Given the description of an element on the screen output the (x, y) to click on. 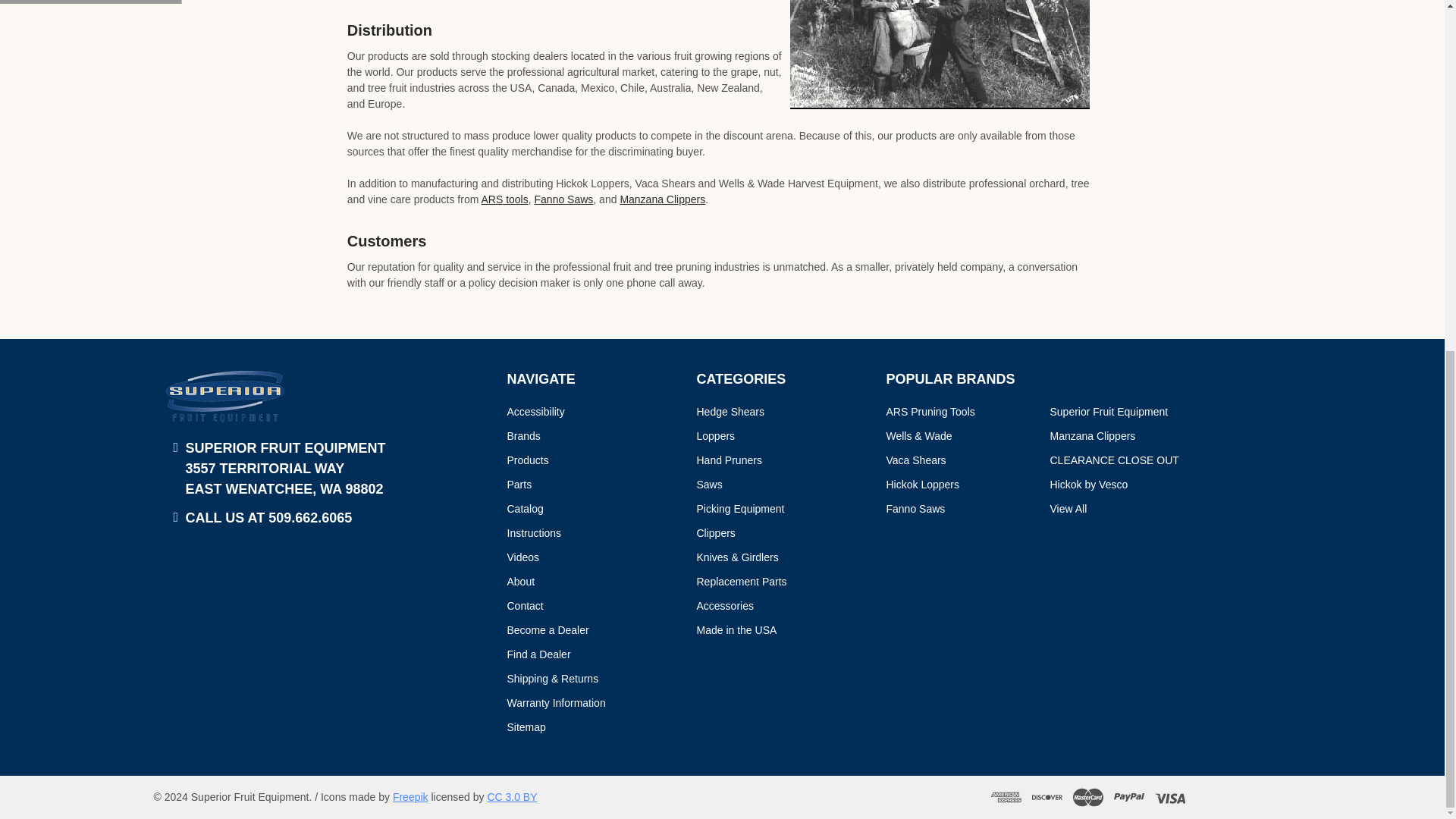
Creative Commons BY 3.0 (511, 797)
Freepik (410, 797)
old-picking-pic.jpg (939, 54)
